Given the description of an element on the screen output the (x, y) to click on. 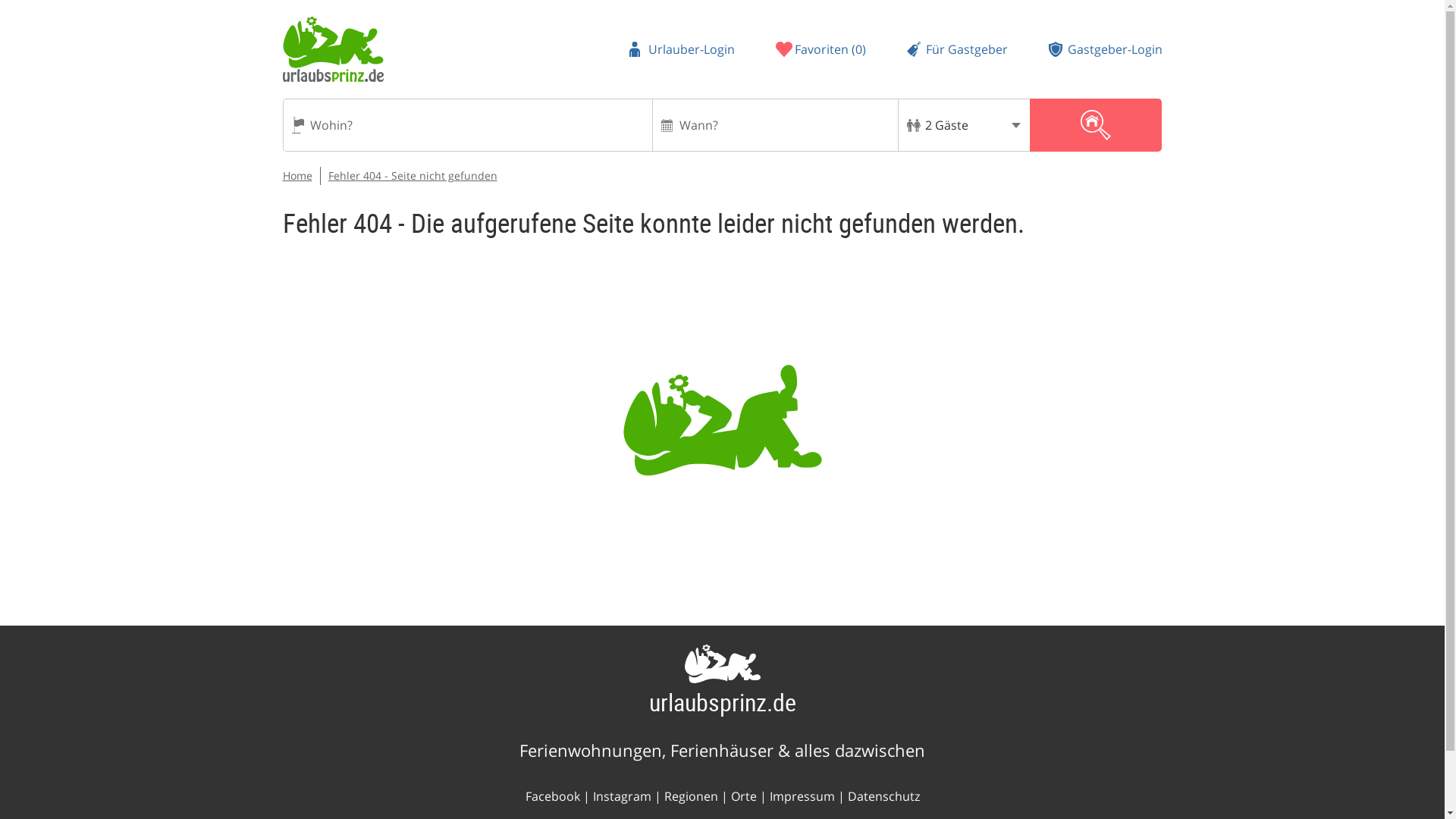
Home (296, 175)
Facebook (551, 795)
Urlauber-Login (681, 48)
Orte (743, 795)
Ferienorte in Deutschland (743, 795)
Regionen (690, 795)
Instagram (621, 795)
urlaubsprinz.de bei Facebook (551, 795)
Fehler 404 - Seite nicht gefunden (411, 175)
Datenschutz (883, 795)
